Given the description of an element on the screen output the (x, y) to click on. 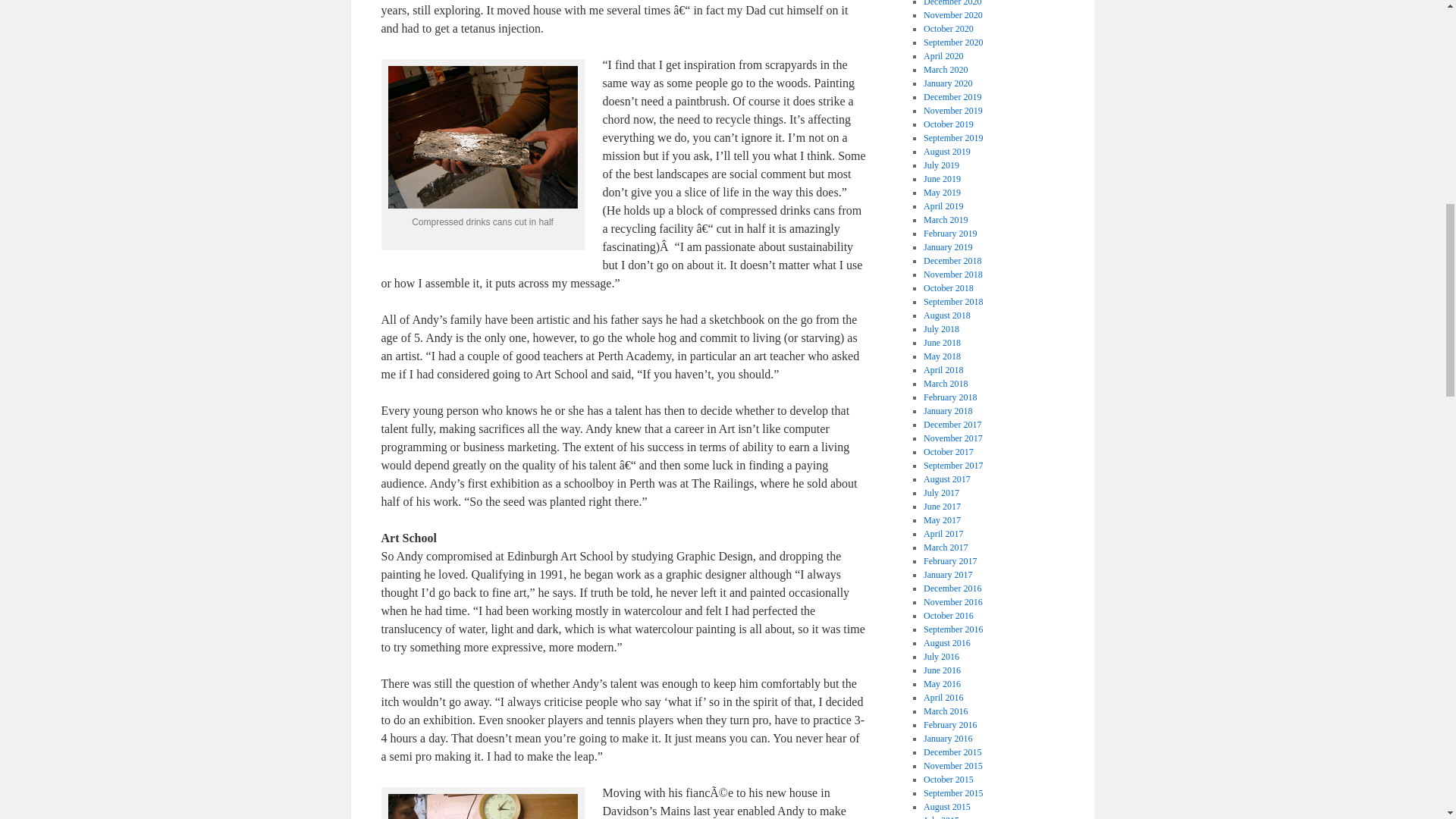
planning (483, 806)
drinks cans (483, 137)
